Given the description of an element on the screen output the (x, y) to click on. 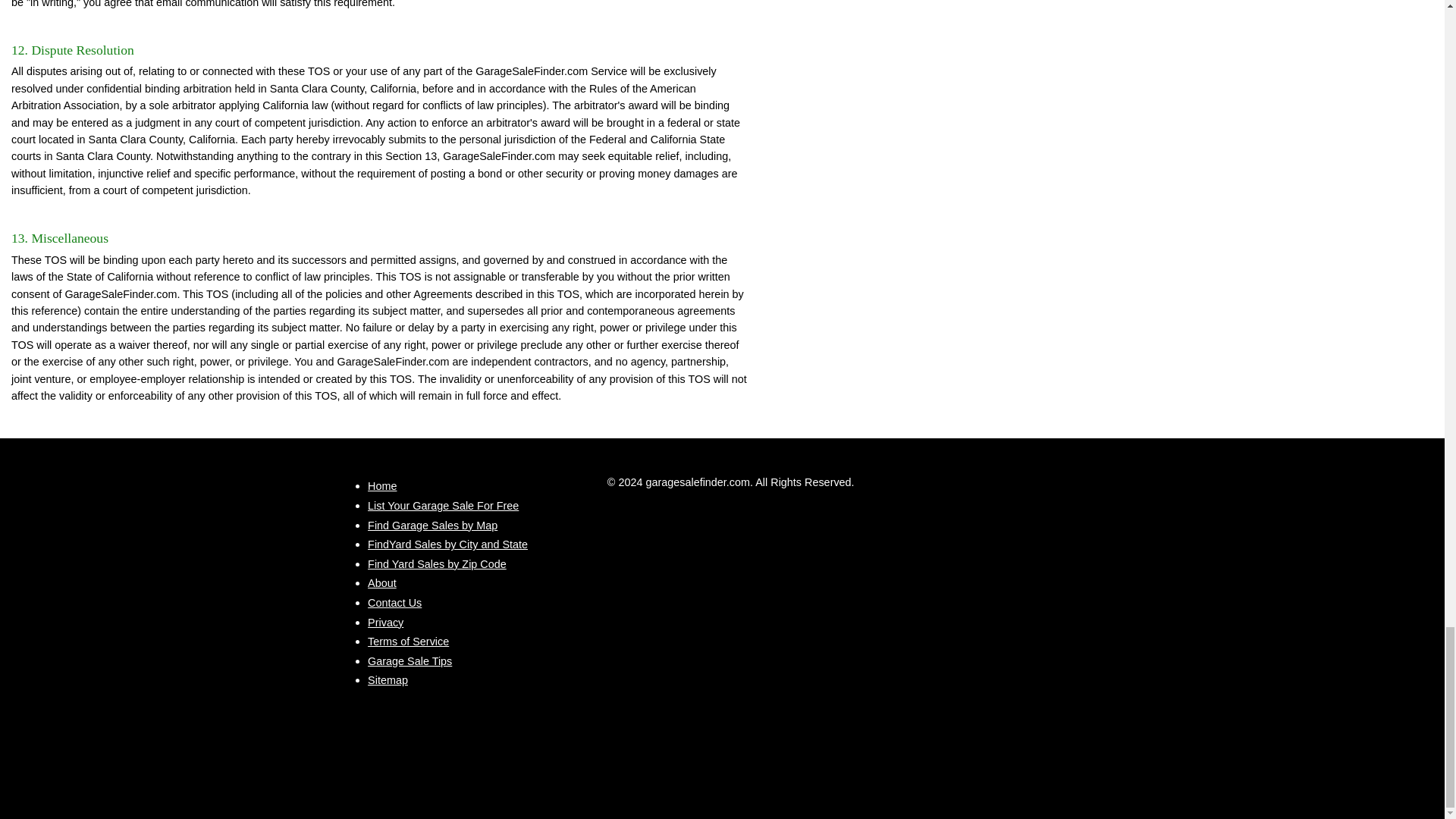
Privacy (385, 622)
Home (382, 485)
List Your Garage Sale For Free (443, 505)
Sitemap (387, 680)
Garage Sale Tips (409, 661)
Terms of Service (408, 641)
FindYard Sales by City and State (447, 544)
Find Garage Sales by Map (432, 525)
Contact Us (395, 603)
About (382, 582)
